Given the description of an element on the screen output the (x, y) to click on. 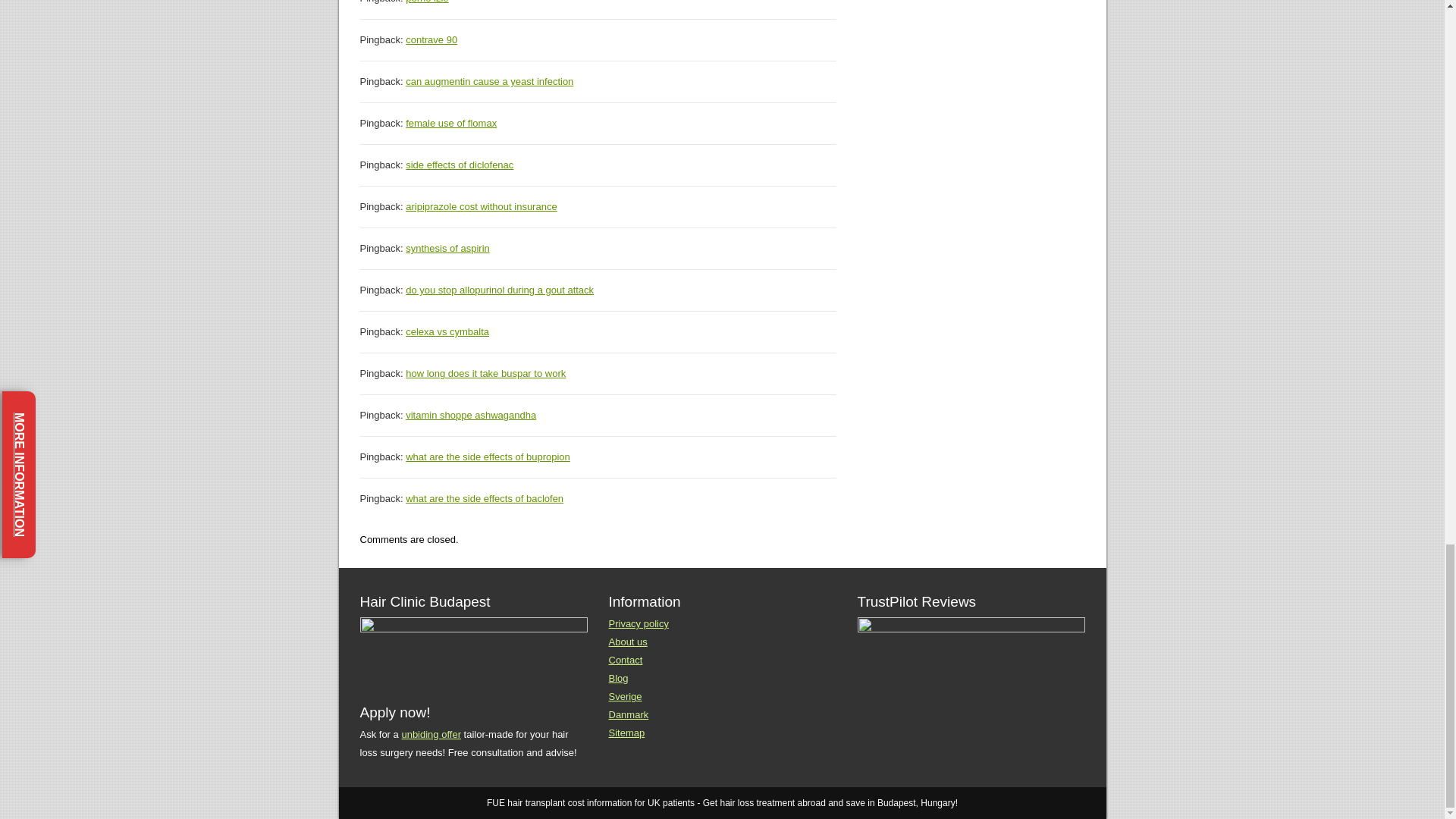
aripiprazole cost without insurance (481, 206)
porno izle (427, 2)
synthesis of aspirin (447, 247)
female use of flomax (451, 122)
contrave 90 (431, 39)
can augmentin cause a yeast infection (489, 81)
side effects of diclofenac (459, 164)
do you stop allopurinol during a gout attack (500, 289)
